Given the description of an element on the screen output the (x, y) to click on. 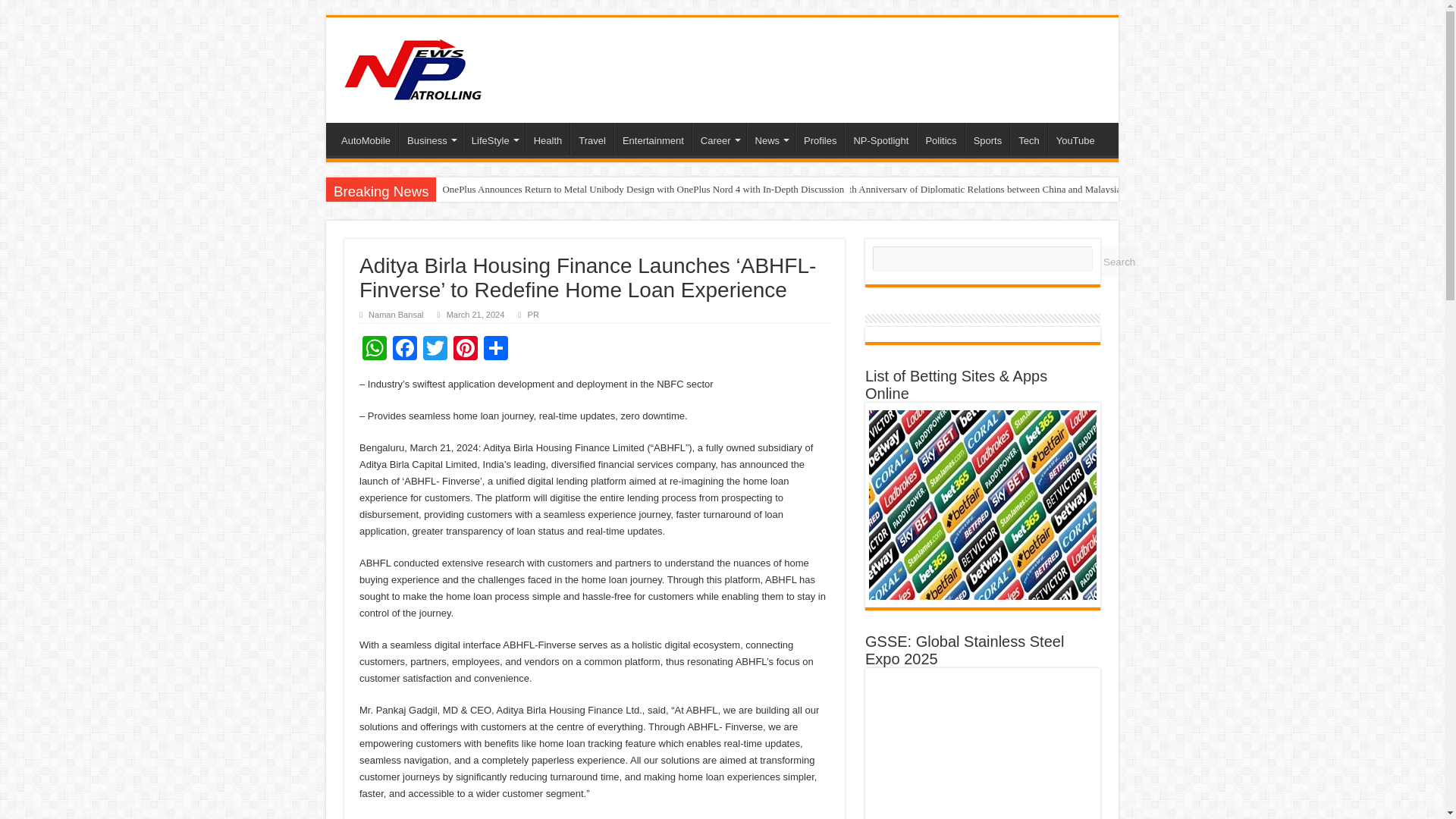
Newspatrolling.com (413, 67)
Business (430, 138)
Facebook (405, 349)
Twitter (434, 349)
WhatsApp (374, 349)
Health (547, 138)
LifeStyle (493, 138)
AutoMobile (365, 138)
Travel (591, 138)
